Given the description of an element on the screen output the (x, y) to click on. 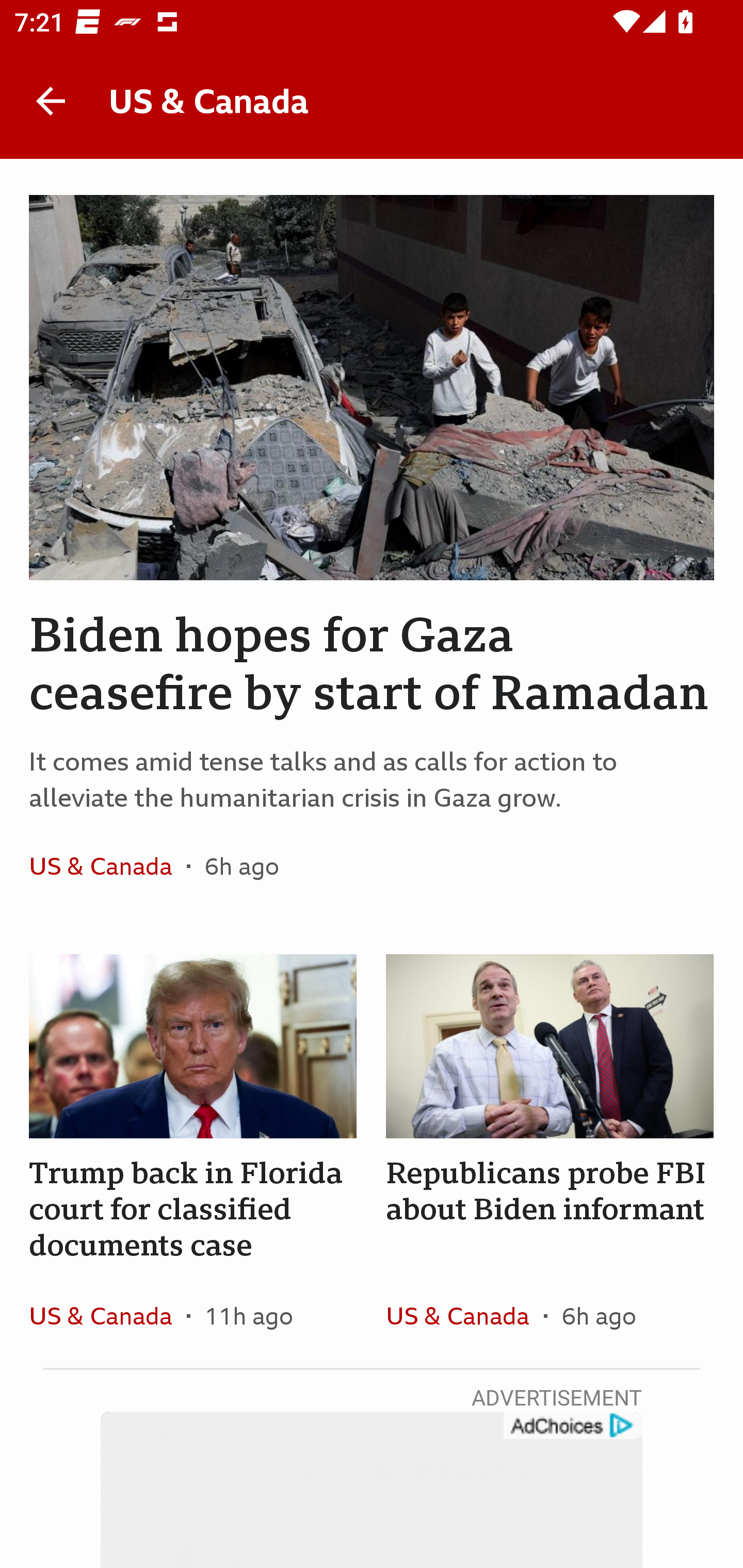
Back (50, 101)
US & Canada In the section US & Canada (107, 865)
US & Canada In the section US & Canada (107, 1315)
US & Canada In the section US & Canada (464, 1315)
Video Player get?name=admarker-full-tl   (371, 1489)
get?name=admarker-full-tl (571, 1425)
